Given the description of an element on the screen output the (x, y) to click on. 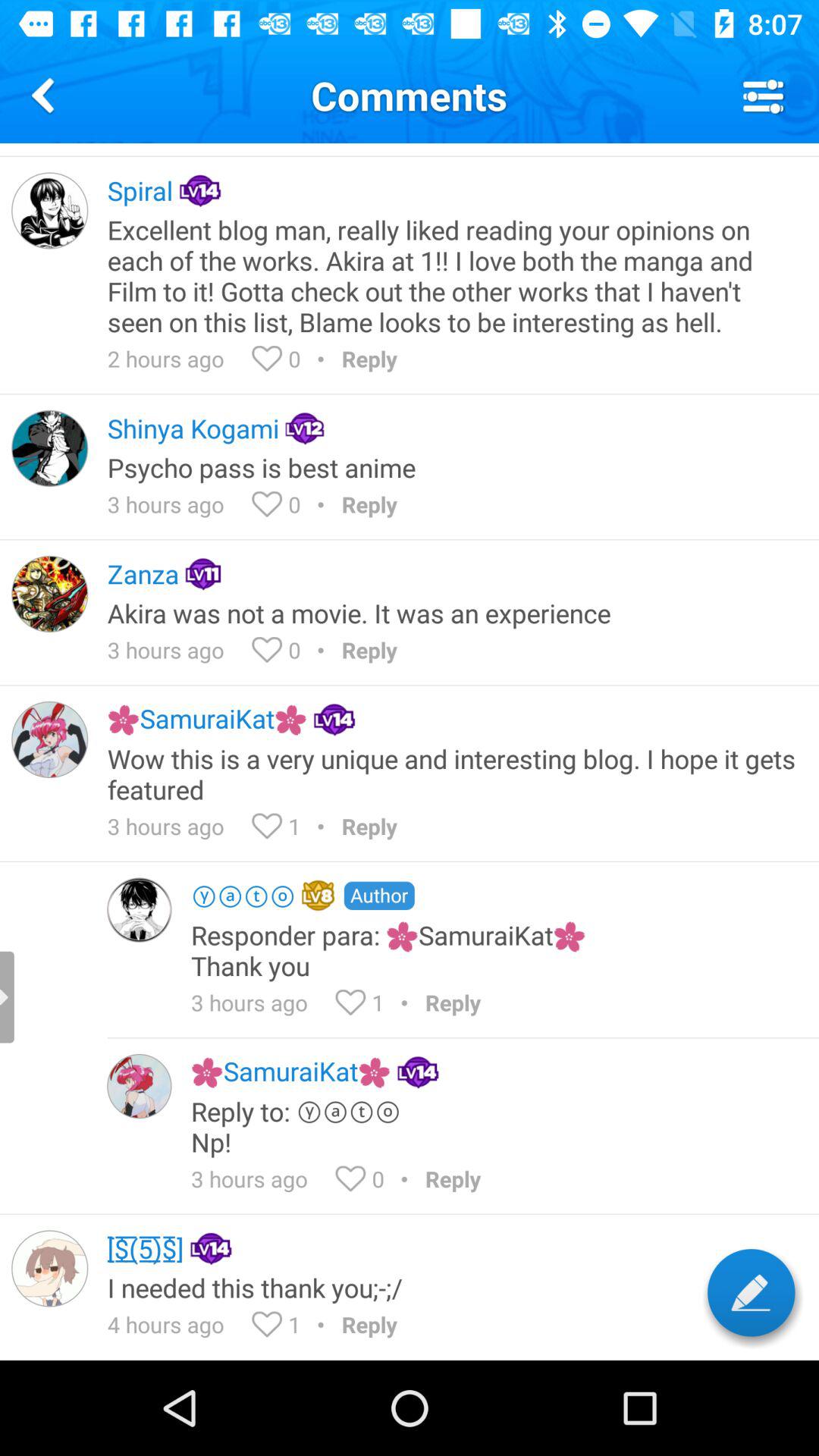
tap the app below spiral (453, 275)
